Given the description of an element on the screen output the (x, y) to click on. 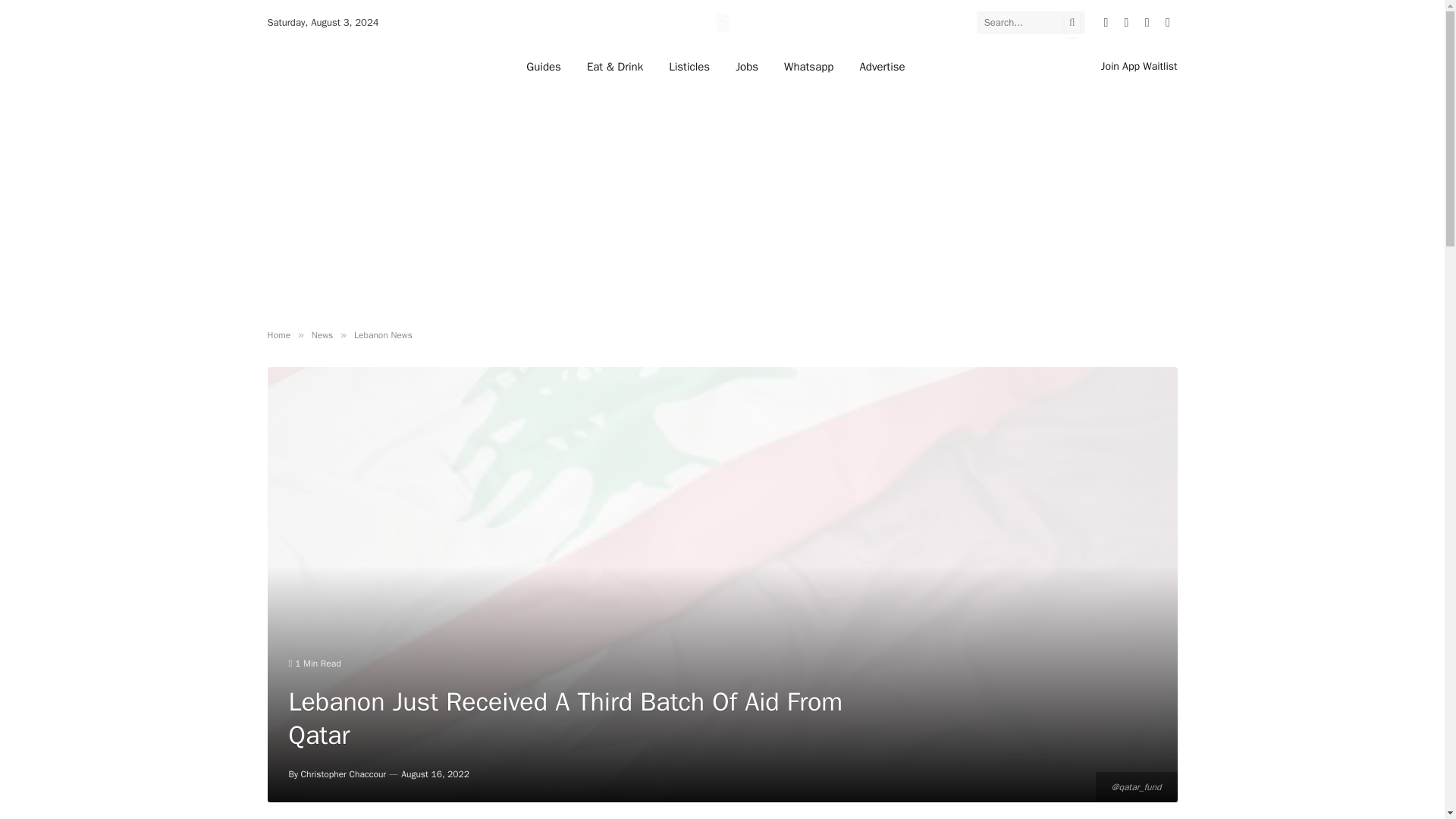
Guides (543, 65)
Posts by Christopher Chaccour (344, 774)
Whatsapp (808, 65)
Listicles (689, 65)
Home (277, 335)
Christopher Chaccour (344, 774)
News (322, 335)
Advertise (881, 65)
Jobs (746, 65)
Lebanon News (382, 335)
Join App Waitlist (1138, 66)
